Given the description of an element on the screen output the (x, y) to click on. 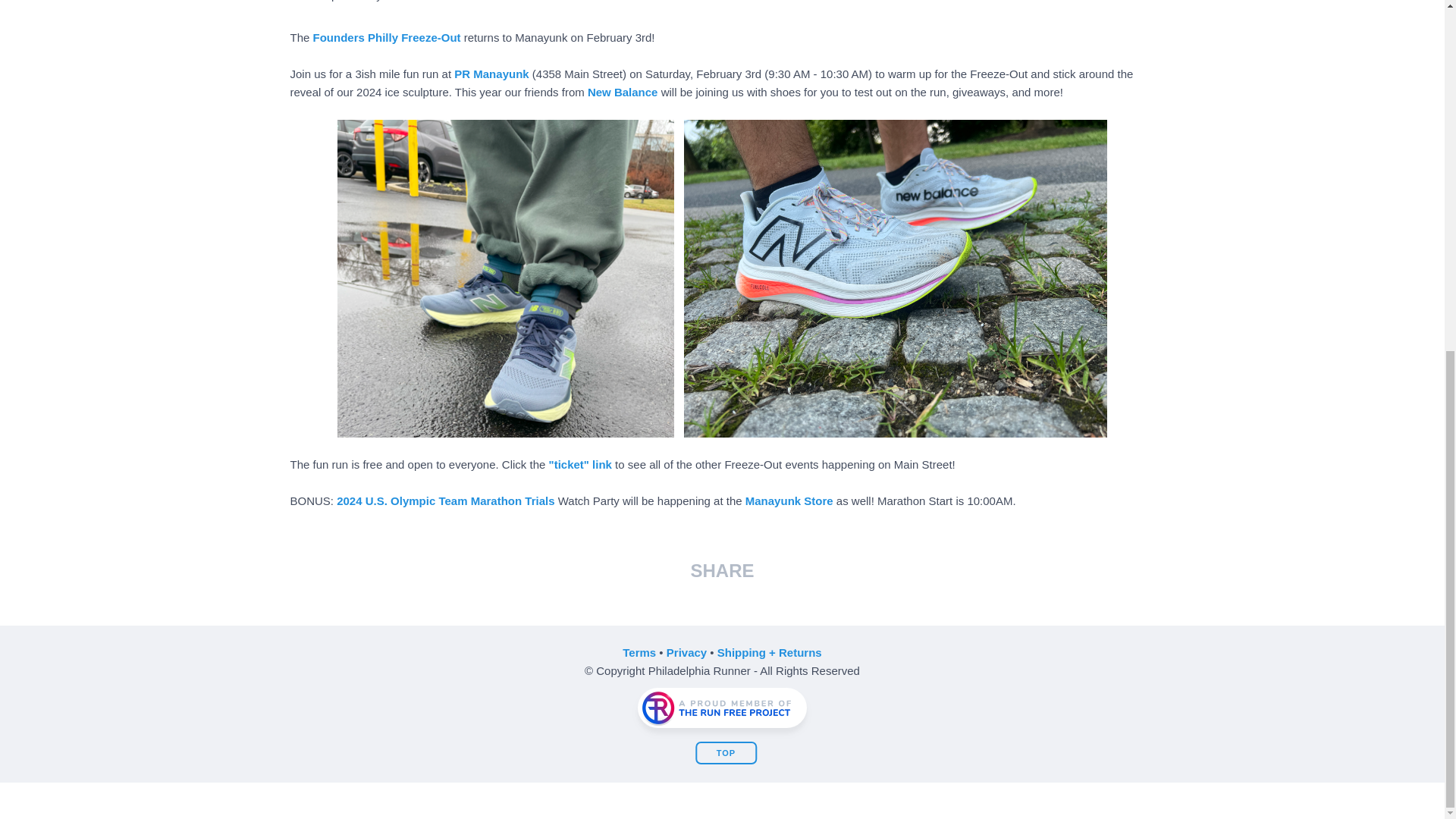
2024 U.S. Olympic Team Marathon Trials (445, 500)
Founders Philly Freeze-Out (387, 37)
PR Manayunk (491, 73)
New Balance (623, 91)
"ticket" link (579, 463)
